Given the description of an element on the screen output the (x, y) to click on. 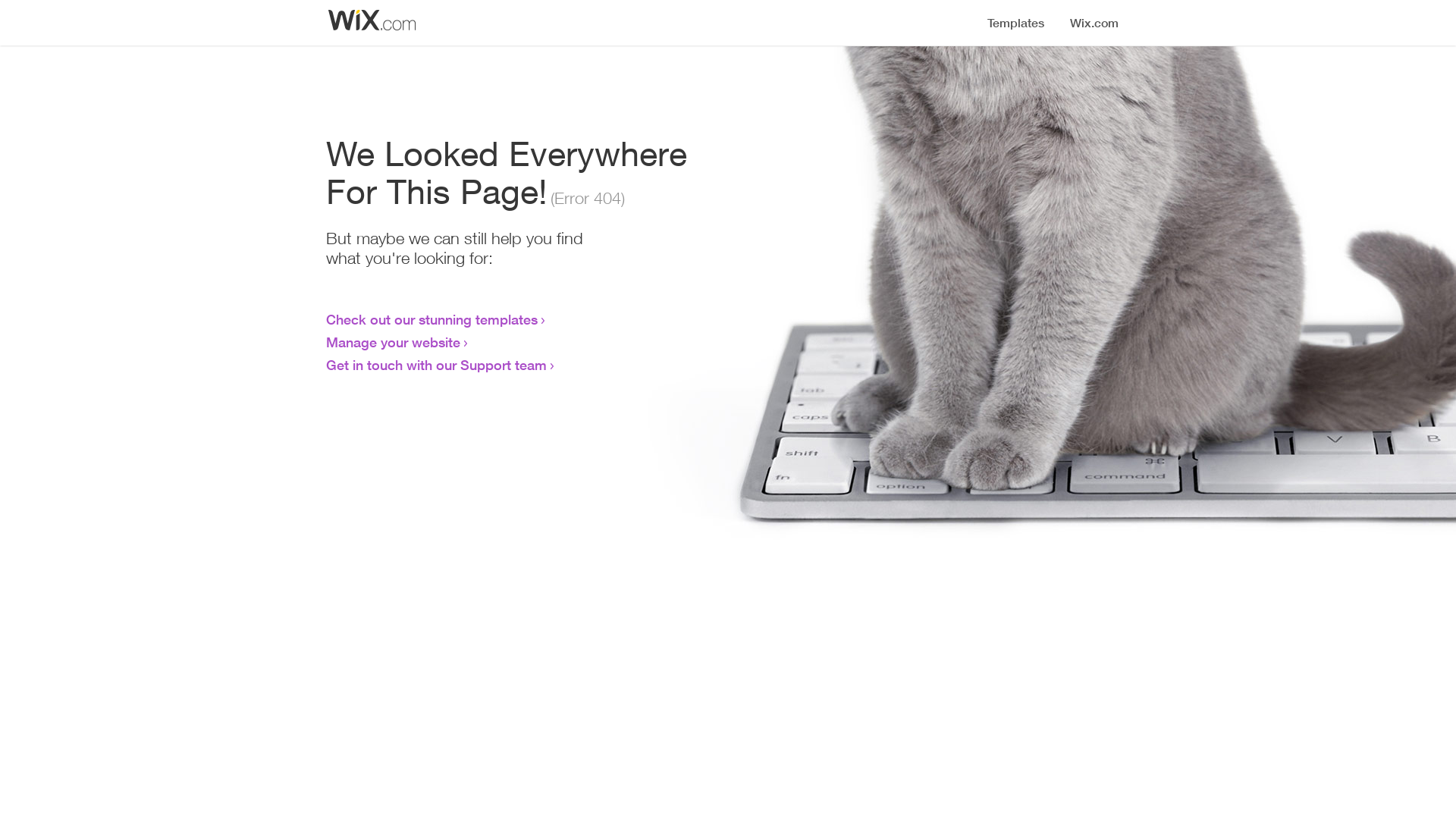
Get in touch with our Support team Element type: text (436, 364)
Check out our stunning templates Element type: text (431, 318)
Manage your website Element type: text (393, 341)
